Given the description of an element on the screen output the (x, y) to click on. 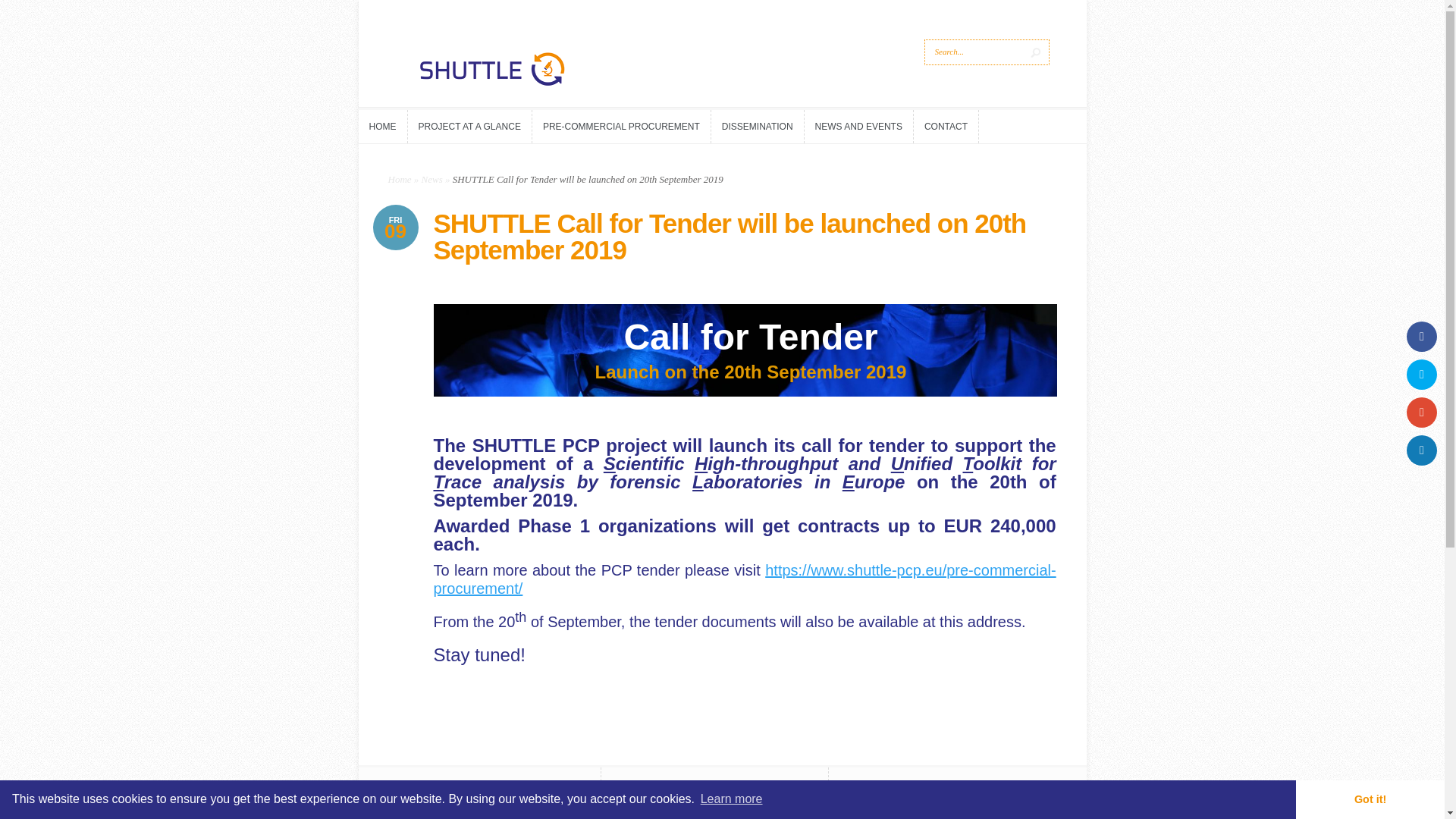
Pre-commercial procurement (745, 582)
Search... (974, 51)
Learn more (730, 798)
